Given the description of an element on the screen output the (x, y) to click on. 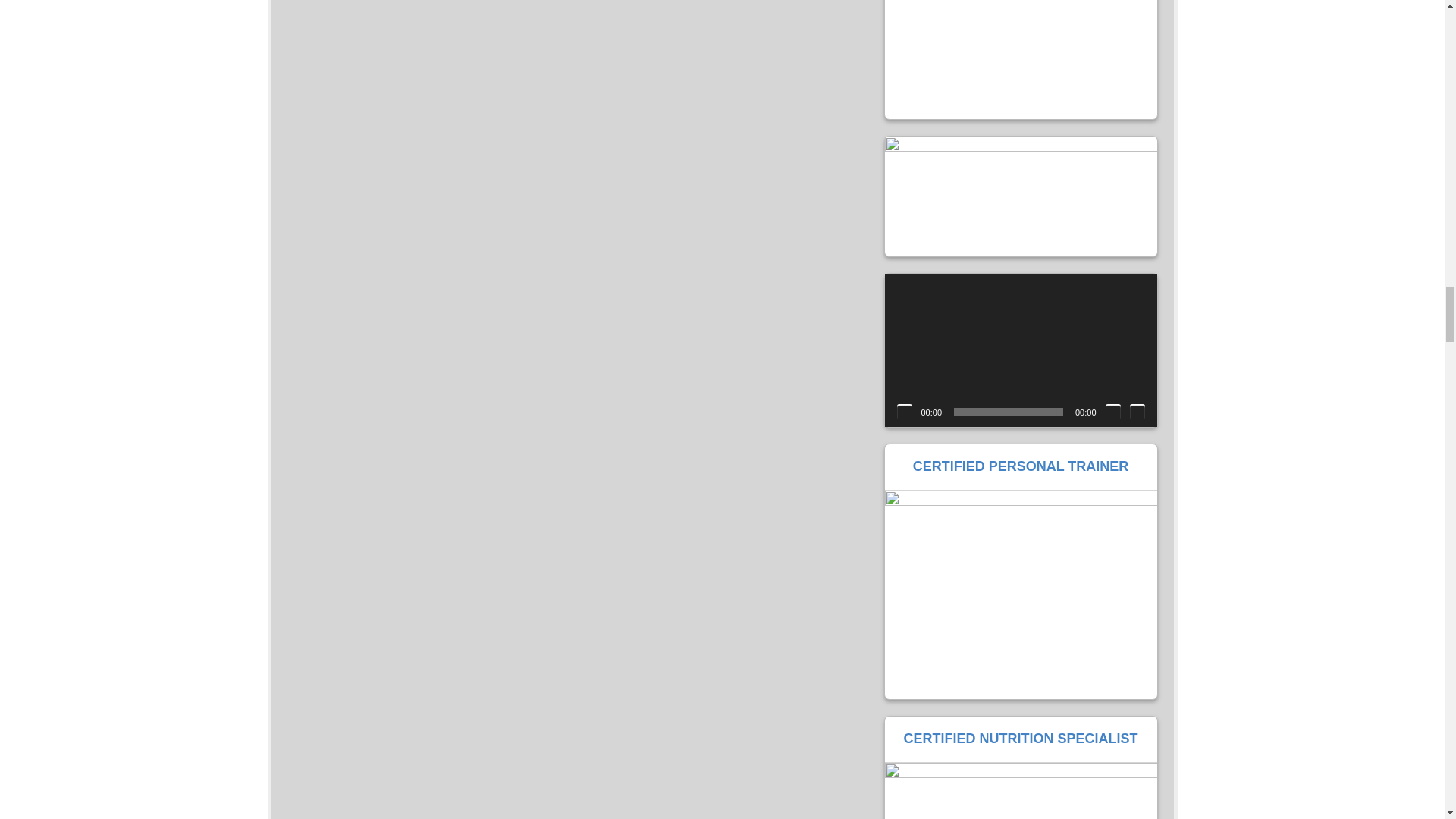
Play (903, 411)
70's fashion (1019, 59)
Mute (1113, 411)
